Given the description of an element on the screen output the (x, y) to click on. 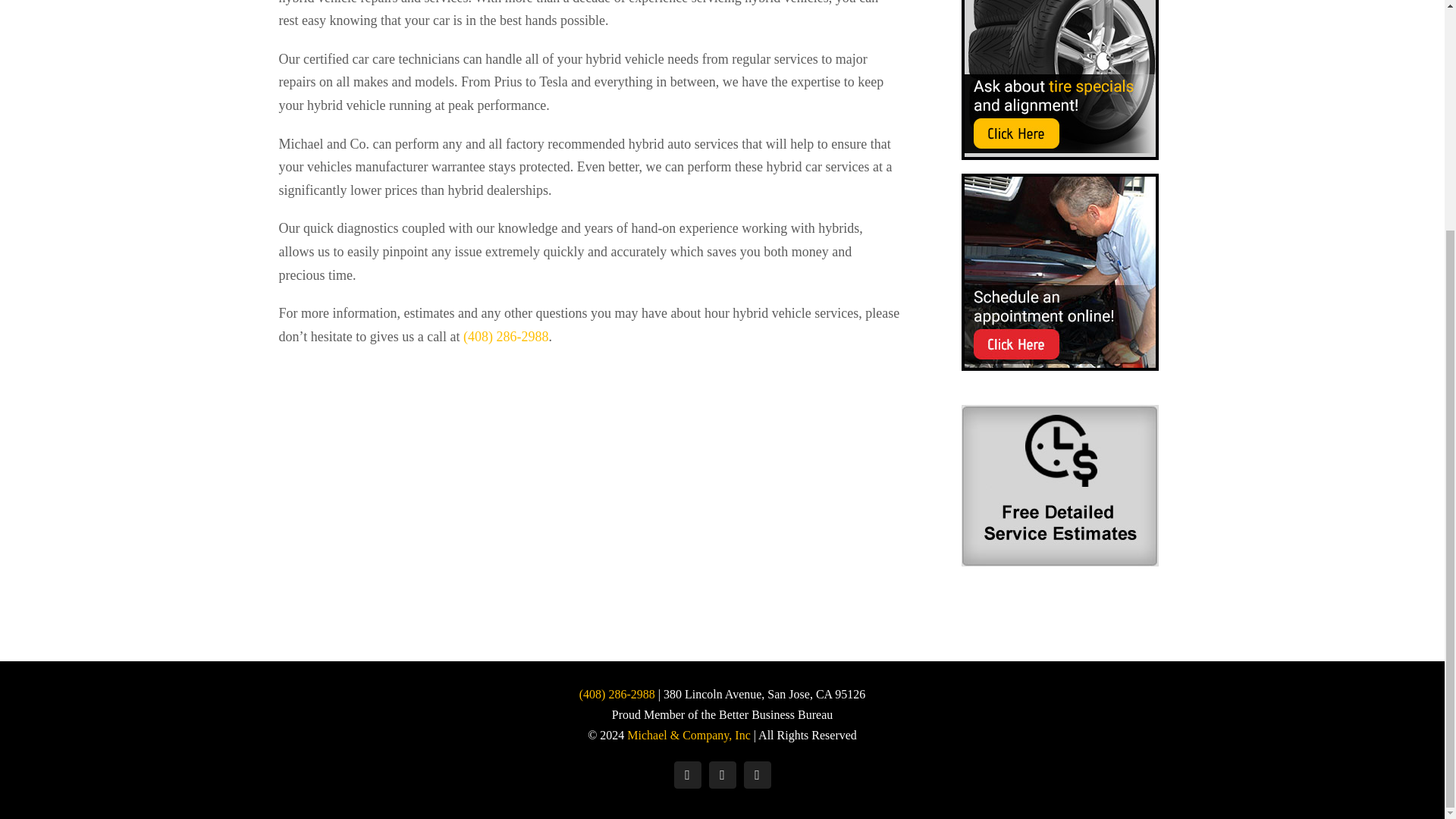
X (756, 774)
Facebook (686, 774)
Yelp (721, 774)
